Given the description of an element on the screen output the (x, y) to click on. 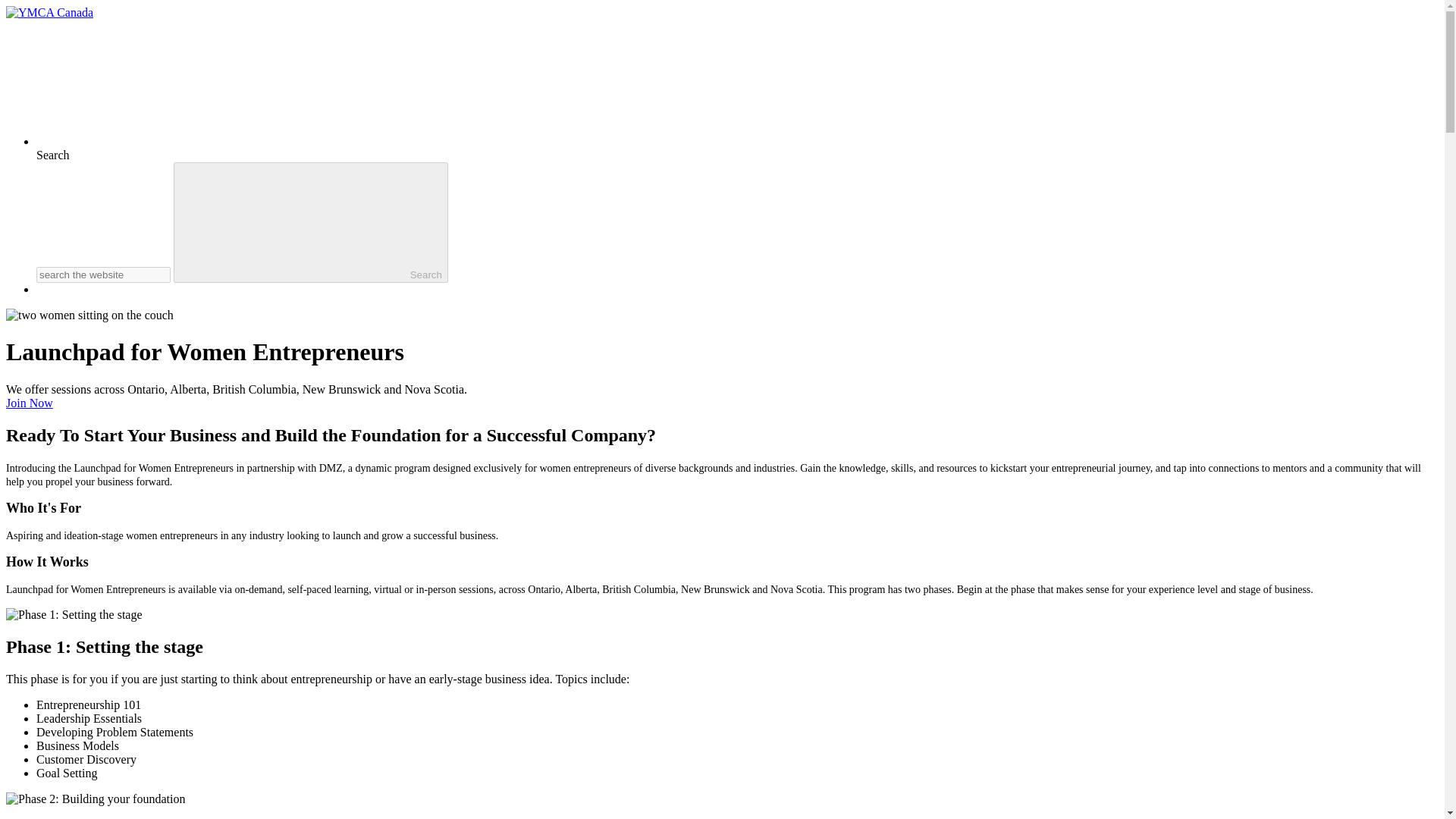
YMCA Canada (49, 11)
Search (310, 222)
Join Now (28, 402)
